Given the description of an element on the screen output the (x, y) to click on. 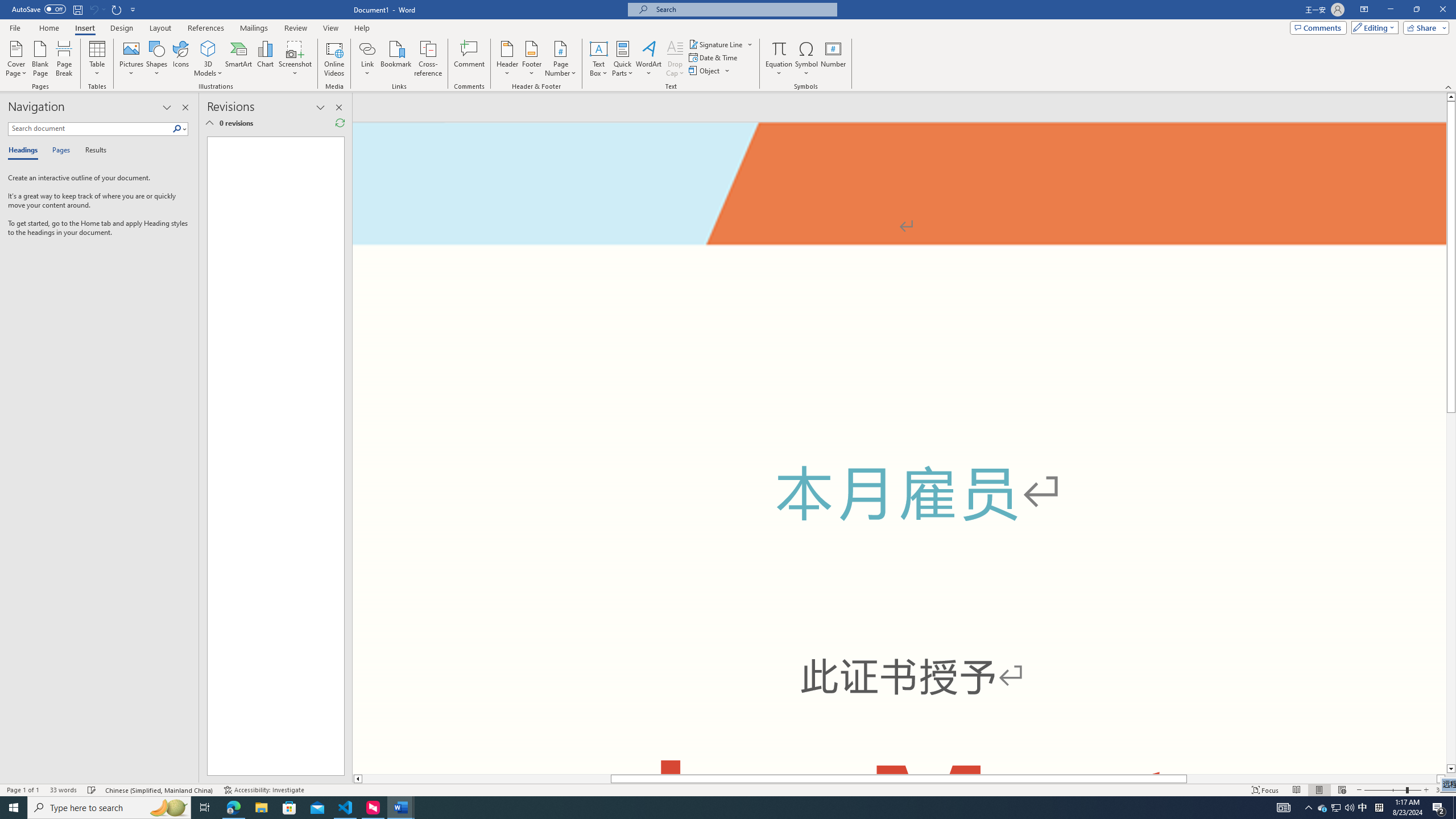
Object... (709, 69)
Quick Parts (622, 58)
Shapes (156, 58)
Can't Undo (96, 9)
3D Models (208, 48)
Header -Section 1- (898, 163)
